Given the description of an element on the screen output the (x, y) to click on. 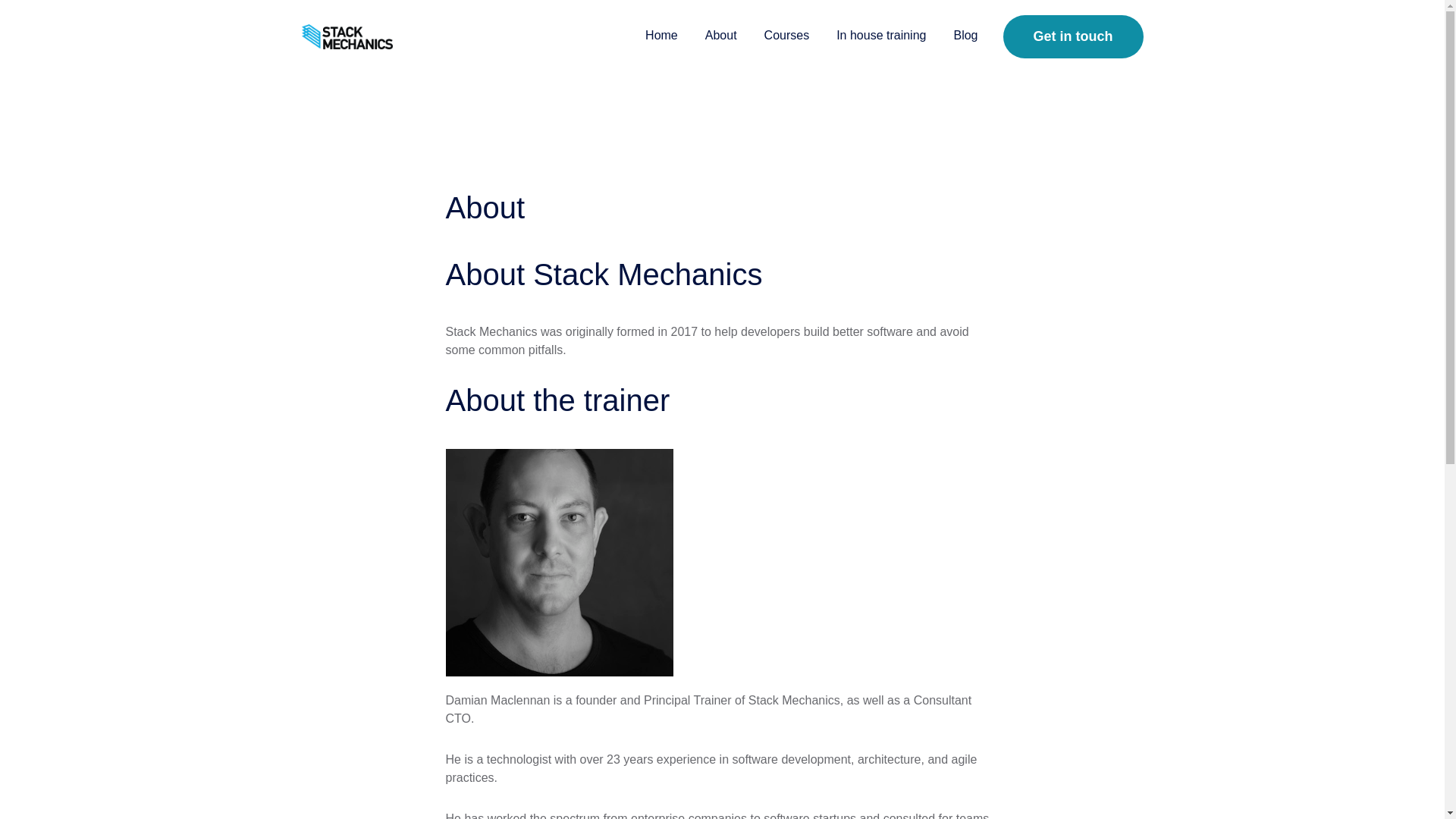
Blog (965, 35)
Home (661, 35)
In house training (880, 35)
Courses (787, 35)
About (721, 35)
Get in touch (1072, 36)
